Given the description of an element on the screen output the (x, y) to click on. 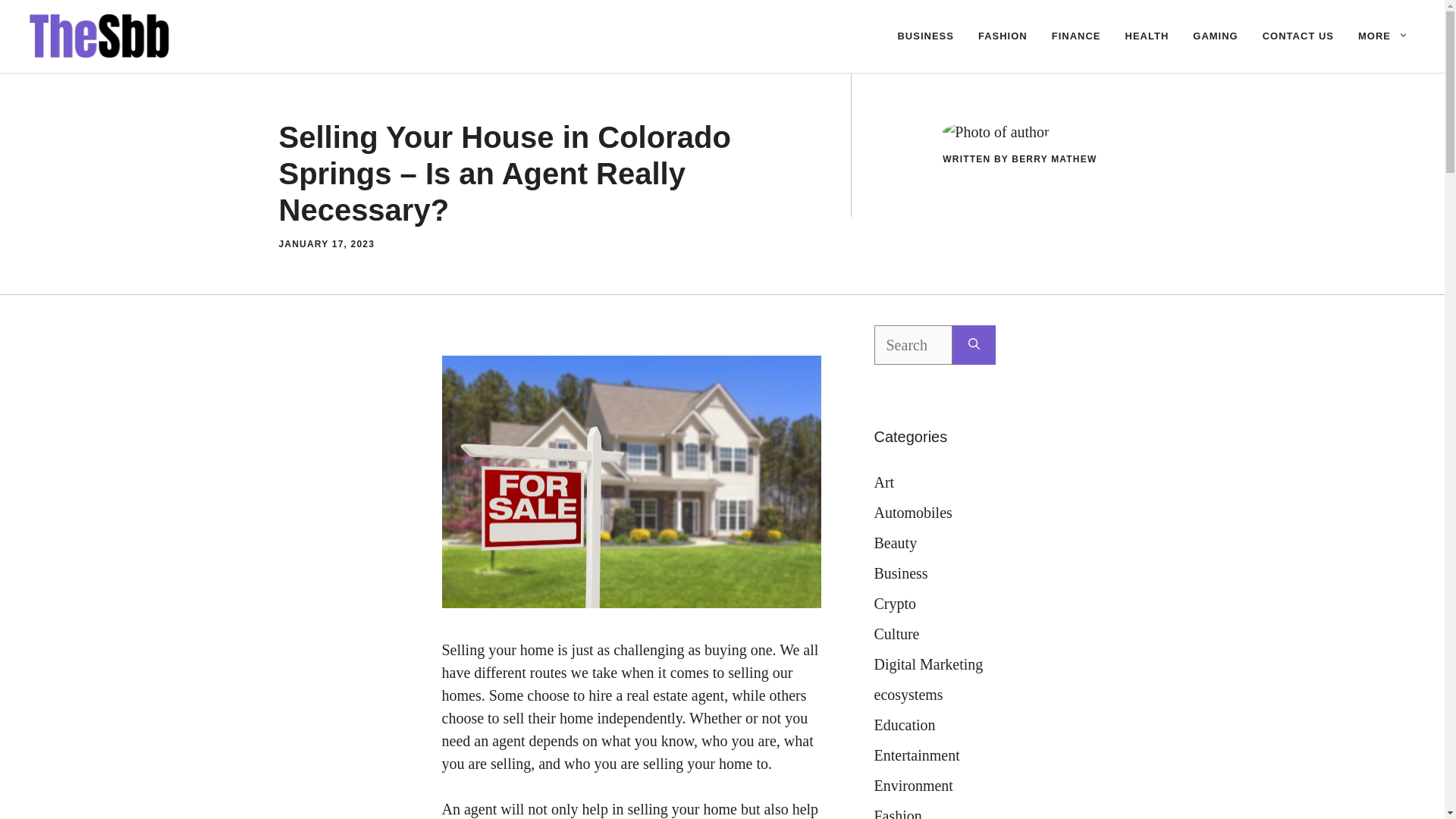
GAMING (1214, 35)
CONTACT US (1297, 35)
HEALTH (1146, 35)
FINANCE (1076, 35)
FASHION (1002, 35)
MORE (1383, 35)
Search for: (912, 344)
BUSINESS (925, 35)
